Given the description of an element on the screen output the (x, y) to click on. 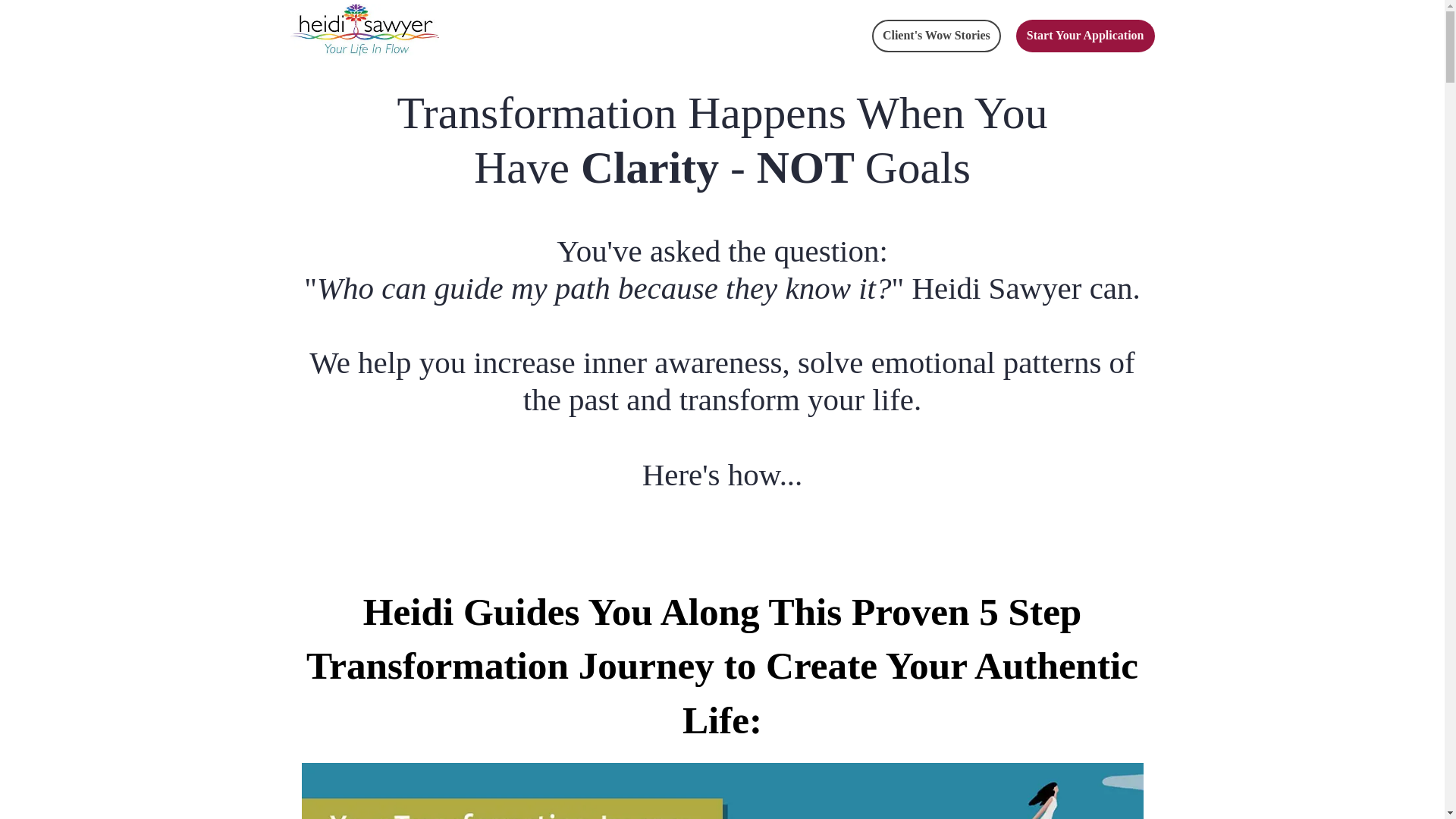
Client's Wow Stories (936, 35)
Start Your Application (1085, 35)
